Given the description of an element on the screen output the (x, y) to click on. 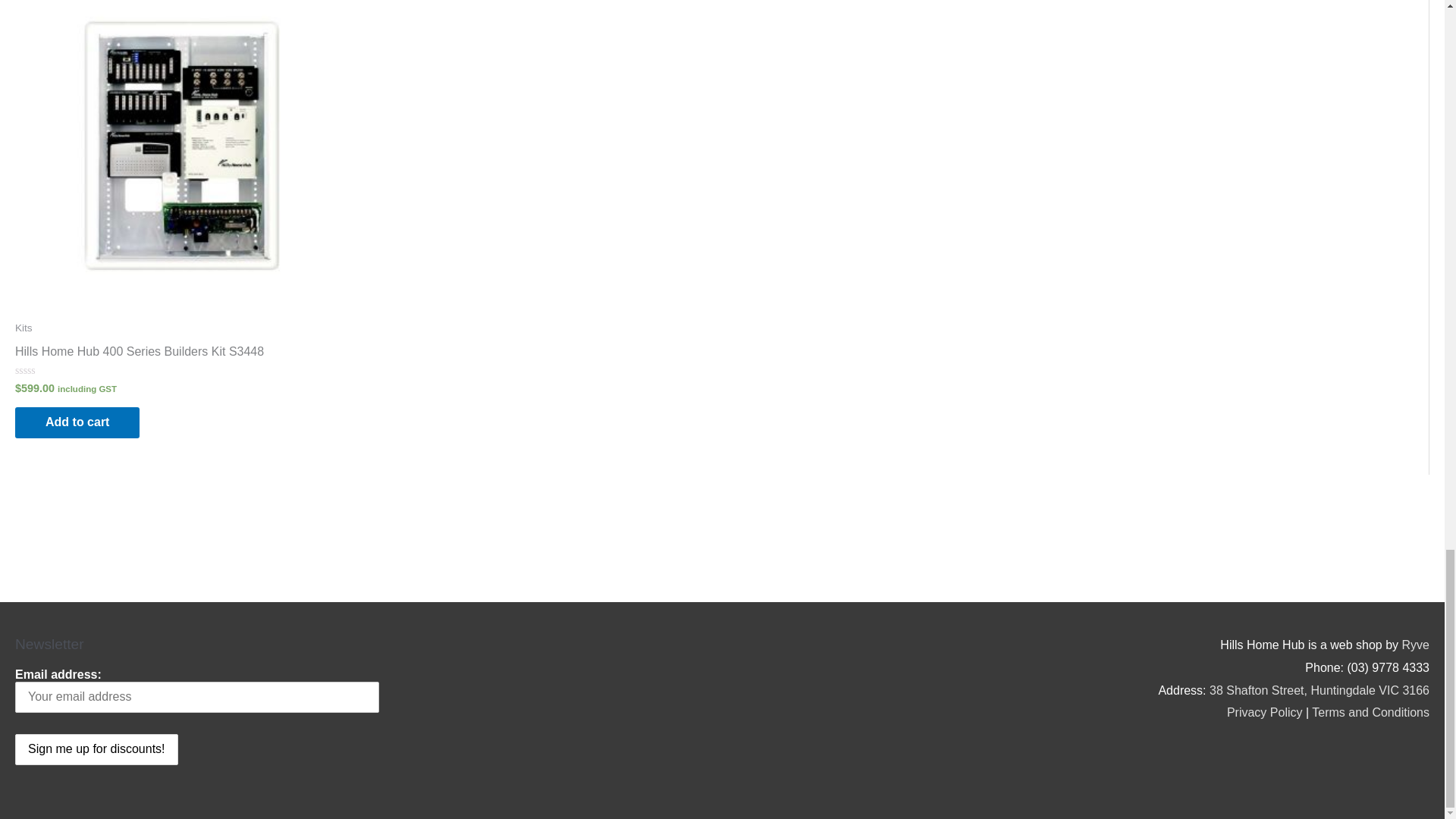
Terms and Conditions (1370, 712)
Sign me up for discounts! (95, 748)
38 Shafton Street, Huntingdale VIC 3166 (1319, 689)
Sign me up for discounts! (95, 748)
Privacy Policy (1265, 712)
Add to cart (76, 422)
Ryve (1415, 644)
Hills Home Hub 400 Series Builders Kit S3448 (138, 354)
